Given the description of an element on the screen output the (x, y) to click on. 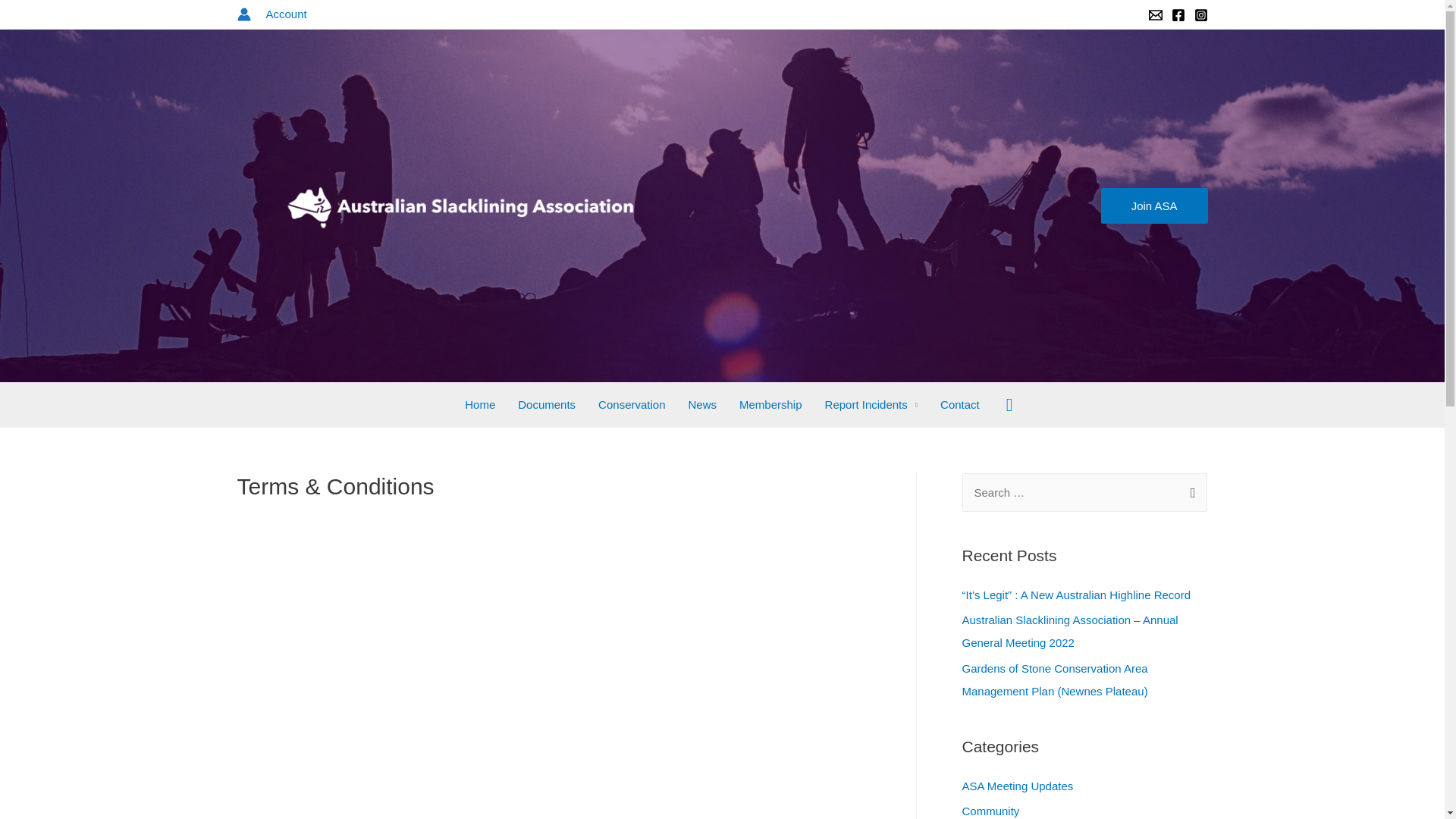
Account Element type: text (285, 13)
Community Element type: text (990, 810)
Documents Element type: text (546, 404)
ASA Meeting Updates Element type: text (1017, 785)
Search Element type: text (33, 17)
Search Element type: text (1009, 404)
Home Element type: text (479, 404)
Search Element type: text (1189, 493)
Membership Element type: text (770, 404)
Report Incidents Element type: text (871, 404)
News Element type: text (702, 404)
Contact Element type: text (959, 404)
Join ASA Element type: text (1154, 206)
Conservation Element type: text (631, 404)
